Given the description of an element on the screen output the (x, y) to click on. 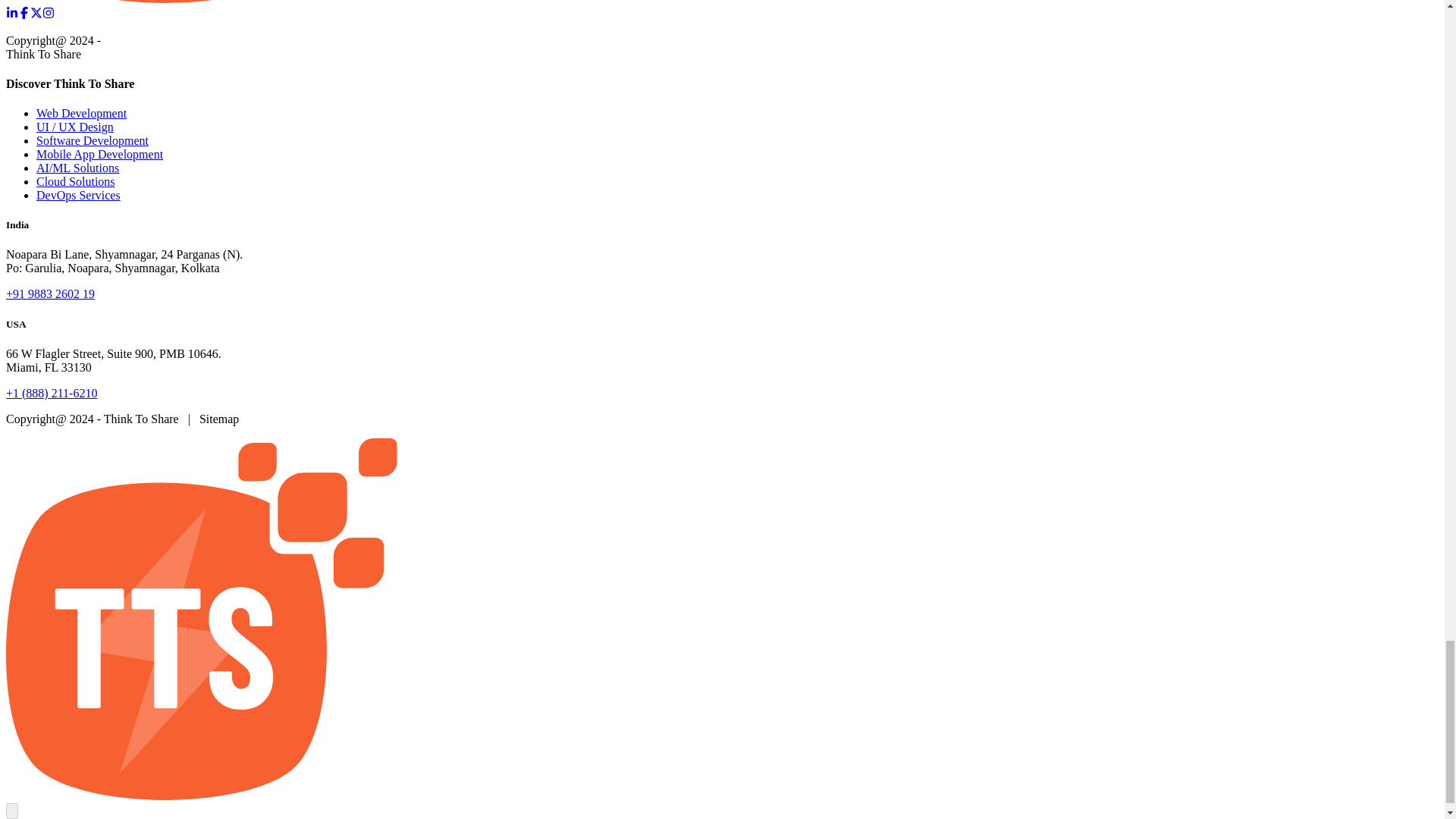
Mobile App Development (99, 154)
Cloud Solutions (75, 181)
DevOps Services (78, 195)
Software Development (92, 140)
Web Development (81, 113)
